Given the description of an element on the screen output the (x, y) to click on. 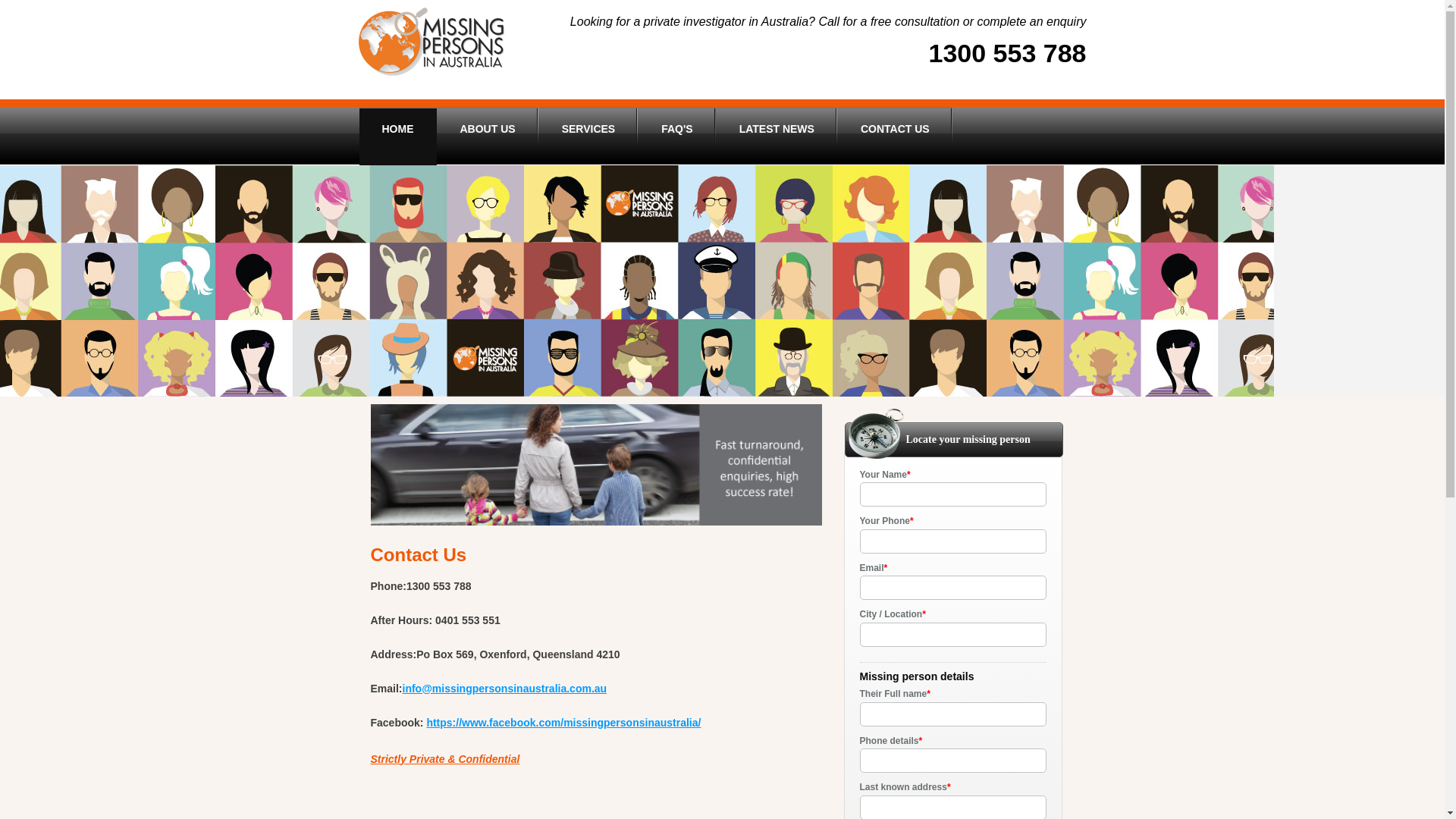
CONTACT US Element type: text (894, 135)
ABOUT US Element type: text (486, 135)
LATEST NEWS Element type: text (776, 135)
HOME Element type: text (397, 135)
FAQ'S Element type: text (676, 135)
https://www.facebook.com/missingpersonsinaustralia/ Element type: text (563, 722)
info@missingpersonsinaustralia.com.au Element type: text (504, 688)
SERVICES Element type: text (588, 135)
